Given the description of an element on the screen output the (x, y) to click on. 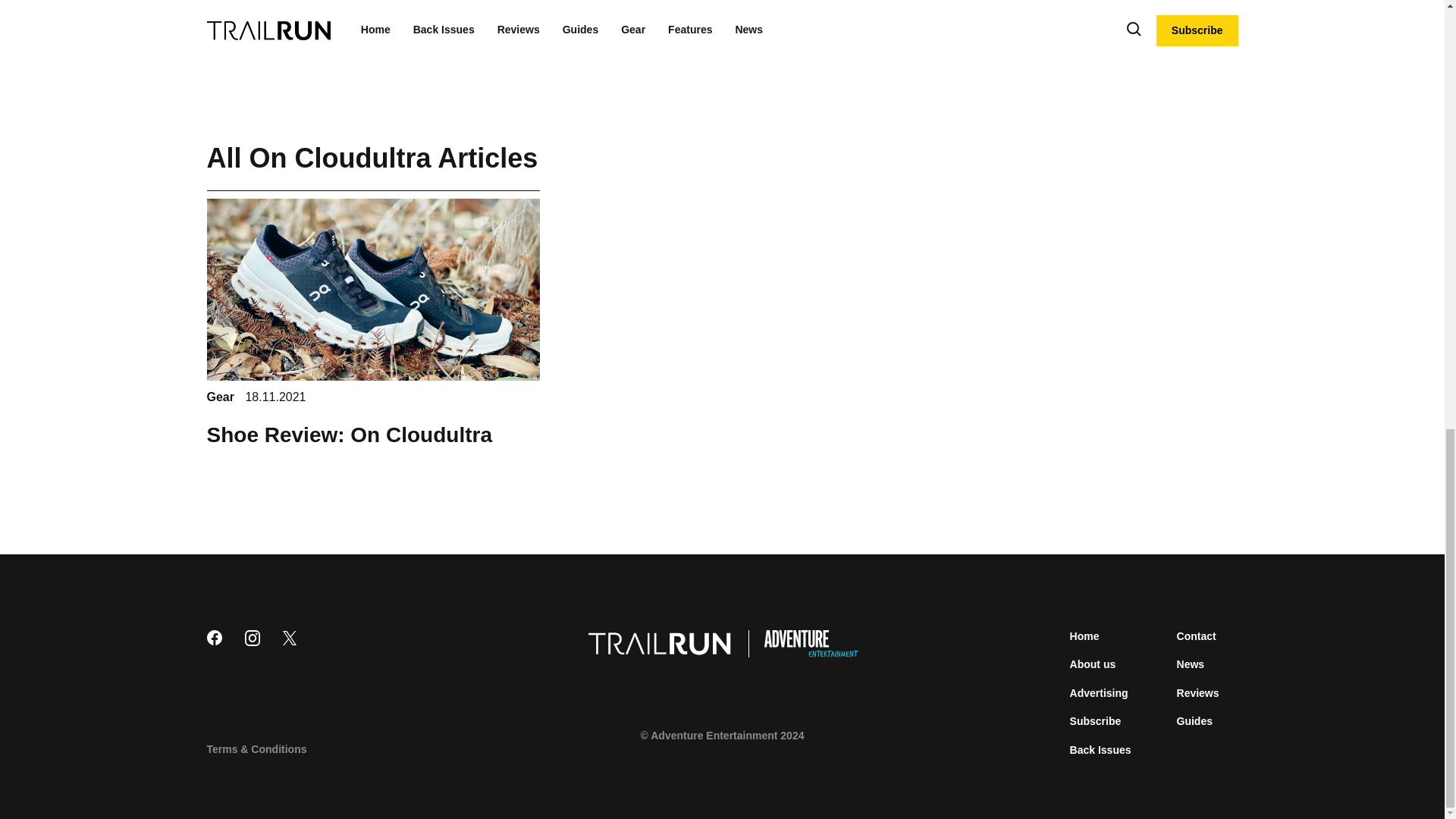
Gear (221, 396)
About us (1093, 664)
News (1190, 664)
Reviews (1198, 693)
Advertising (1099, 693)
Guides (1194, 720)
Shoe Review: On Cloudultra (349, 36)
Contact (1195, 635)
Back Issues (1100, 749)
Subscribe (1095, 720)
Shoe Review: On Cloudultra (349, 434)
Gear (221, 2)
Home (1084, 635)
